Given the description of an element on the screen output the (x, y) to click on. 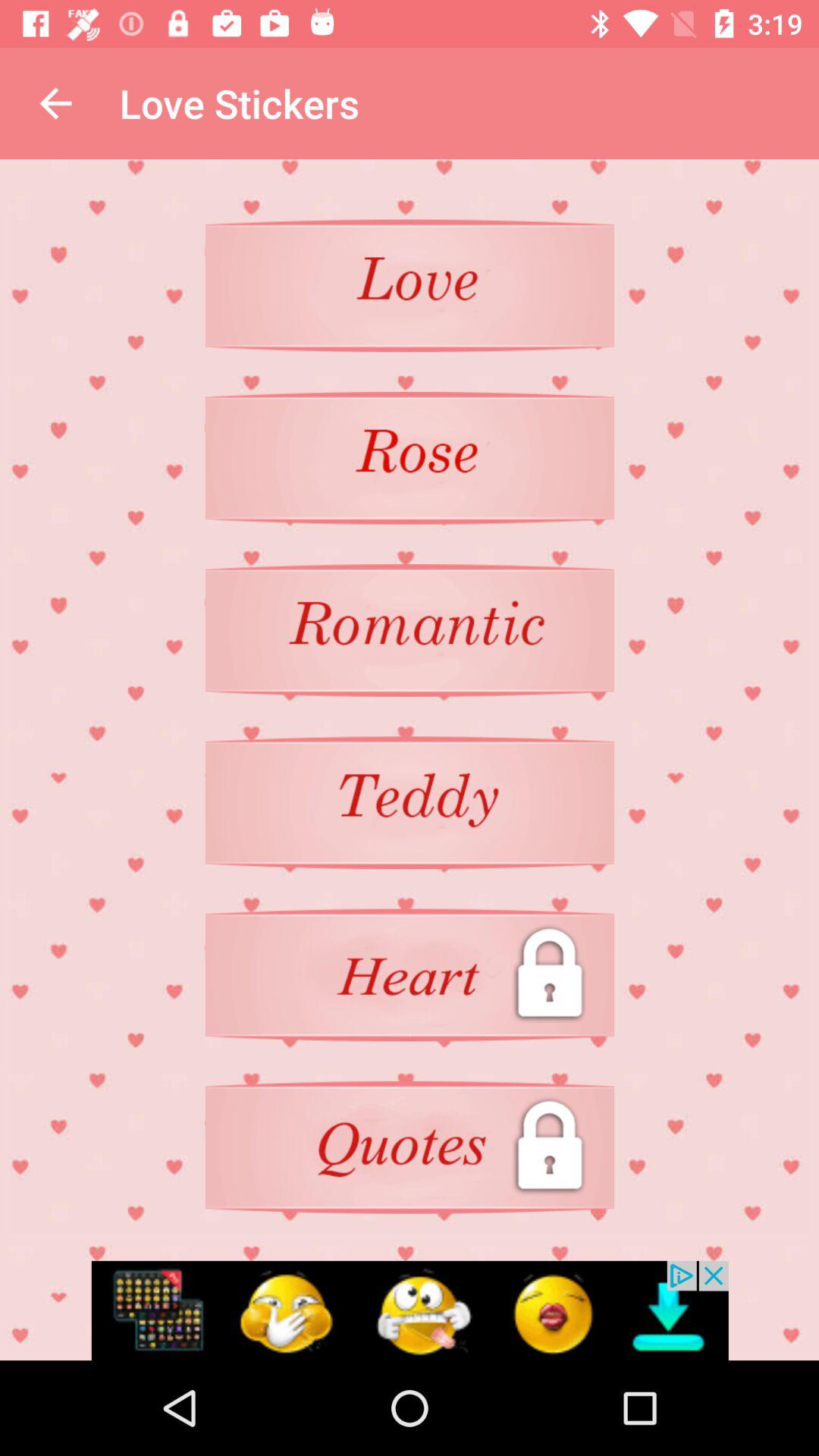
select the button (409, 457)
